Given the description of an element on the screen output the (x, y) to click on. 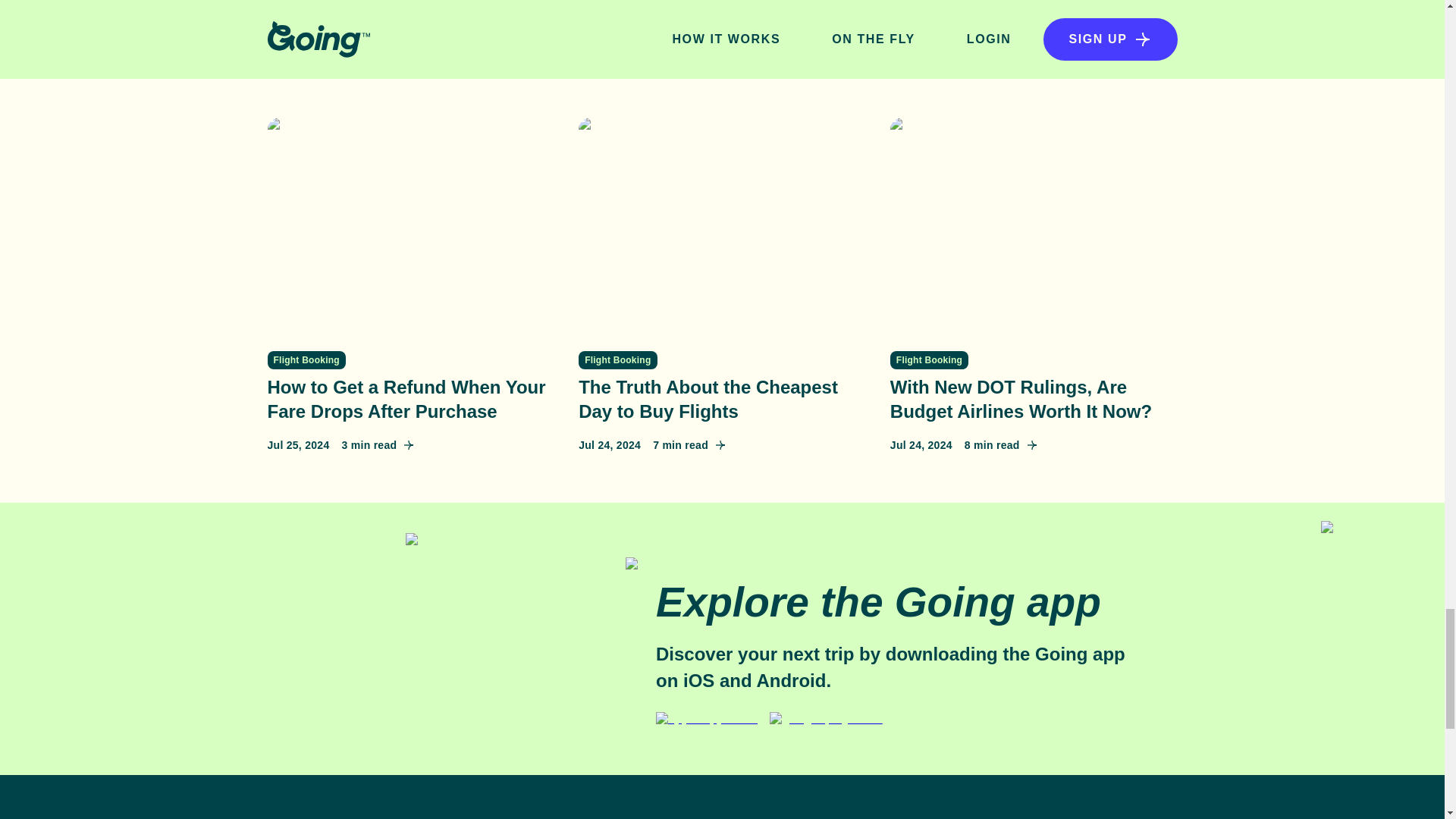
VIEW ALL (1122, 47)
